Given the description of an element on the screen output the (x, y) to click on. 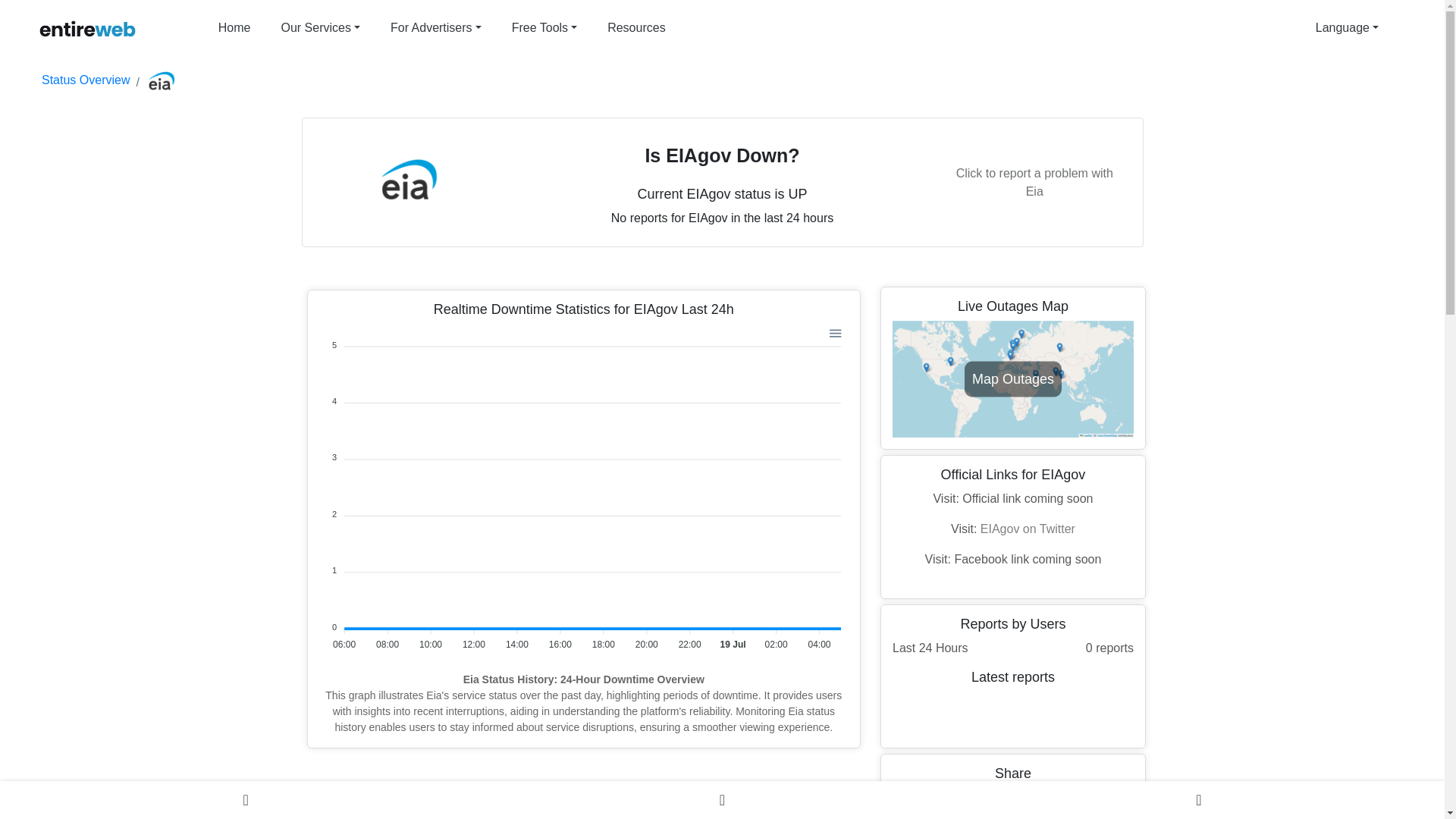
Status Overview (85, 79)
EIAgov on Twitter (1027, 528)
Our Services (320, 28)
Free Tools (544, 28)
Click to report a problem with Eia (1034, 183)
Menu (835, 332)
Resources (636, 28)
For Advertisers (435, 28)
Map Outages (1013, 378)
Home (234, 28)
Language (1346, 28)
